Given the description of an element on the screen output the (x, y) to click on. 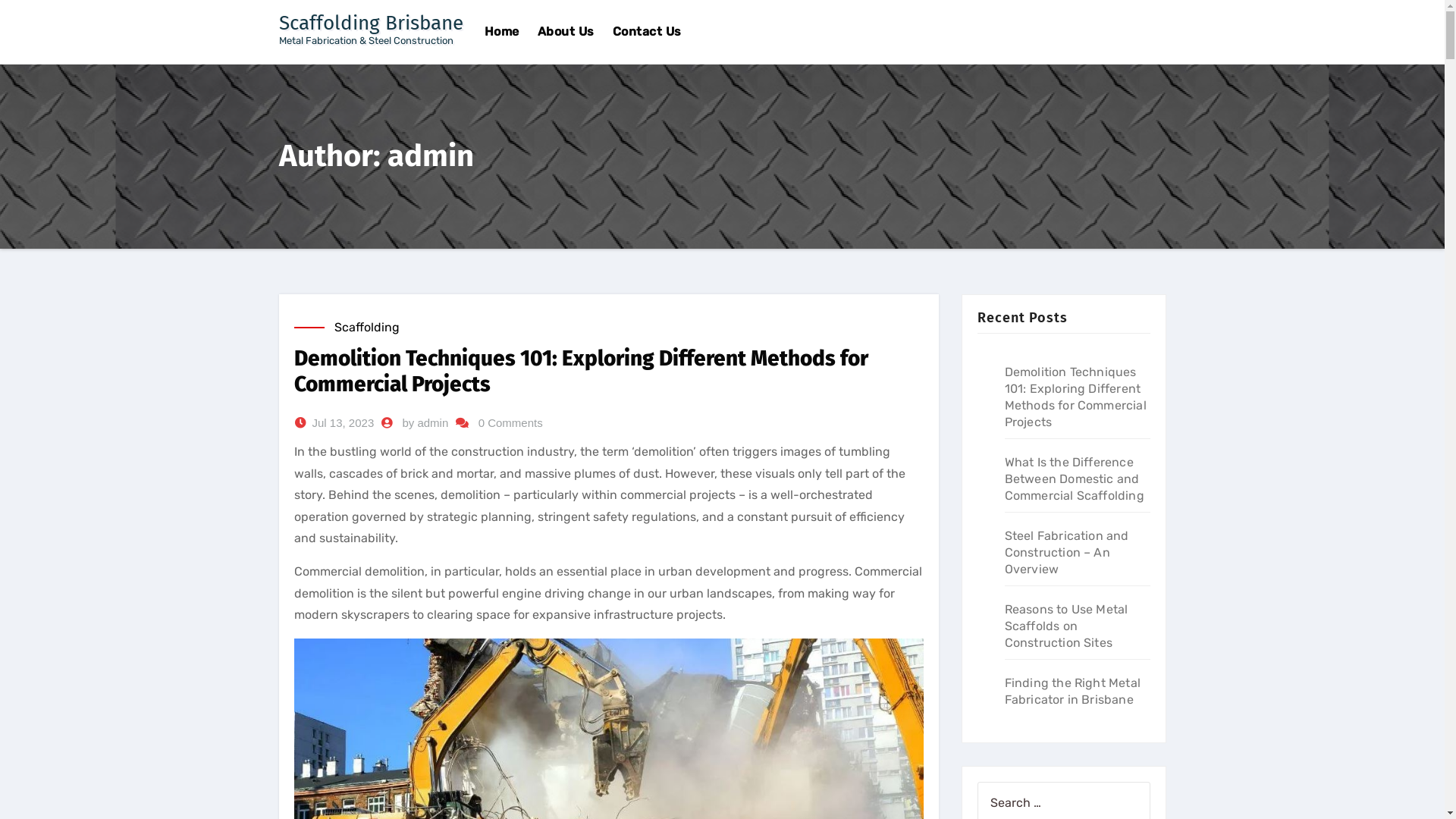
Finding the Right Metal Fabricator in Brisbane Element type: text (1072, 690)
Scaffolding Brisbane Element type: text (371, 22)
0 Comments Element type: text (510, 423)
Jul 13, 2023 Element type: text (343, 423)
Home Element type: text (500, 31)
Scaffolding Element type: text (365, 327)
Reasons to Use Metal Scaffolds on Construction Sites Element type: text (1065, 625)
About Us Element type: text (564, 31)
by admin Element type: text (424, 423)
Contact Us Element type: text (646, 31)
